Given the description of an element on the screen output the (x, y) to click on. 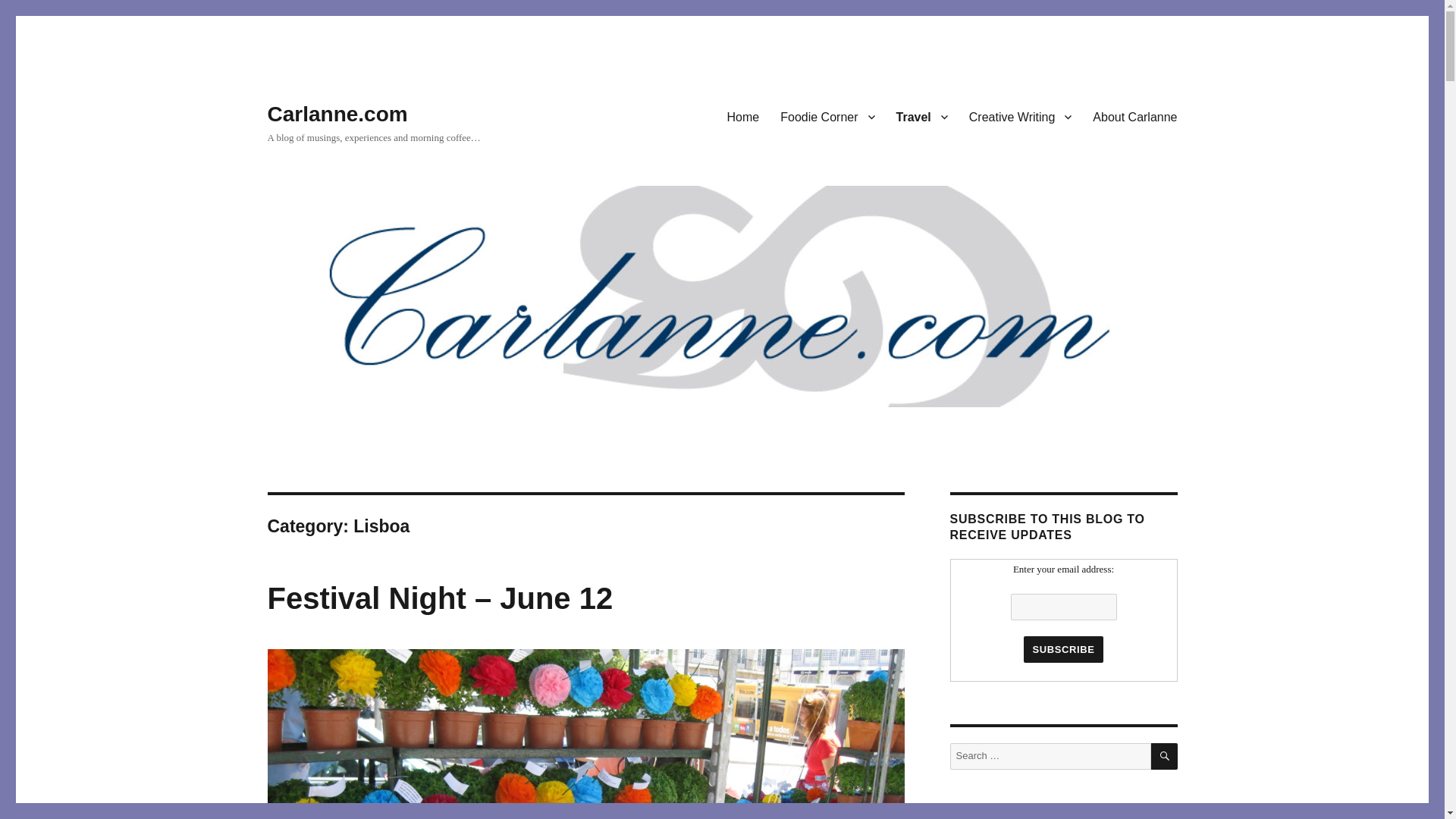
Foodie Corner (827, 116)
Home (743, 116)
Creative Writing (1020, 116)
Subscribe (1062, 649)
Carlanne.com (336, 114)
Travel (921, 116)
About Carlanne (1134, 116)
